Given the description of an element on the screen output the (x, y) to click on. 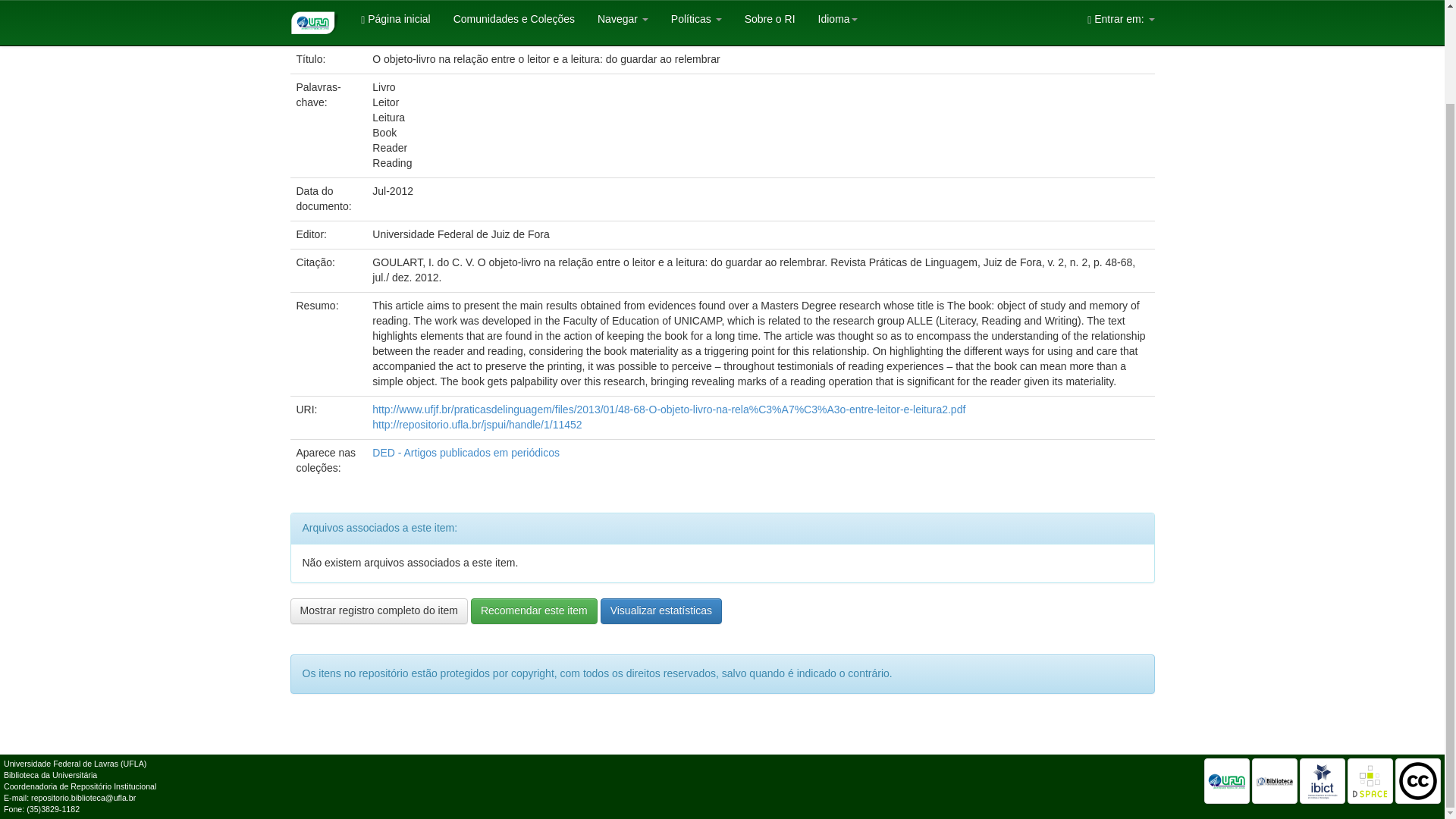
Recomendar este item (533, 611)
Mostrar registro completo do item (378, 611)
